Given the description of an element on the screen output the (x, y) to click on. 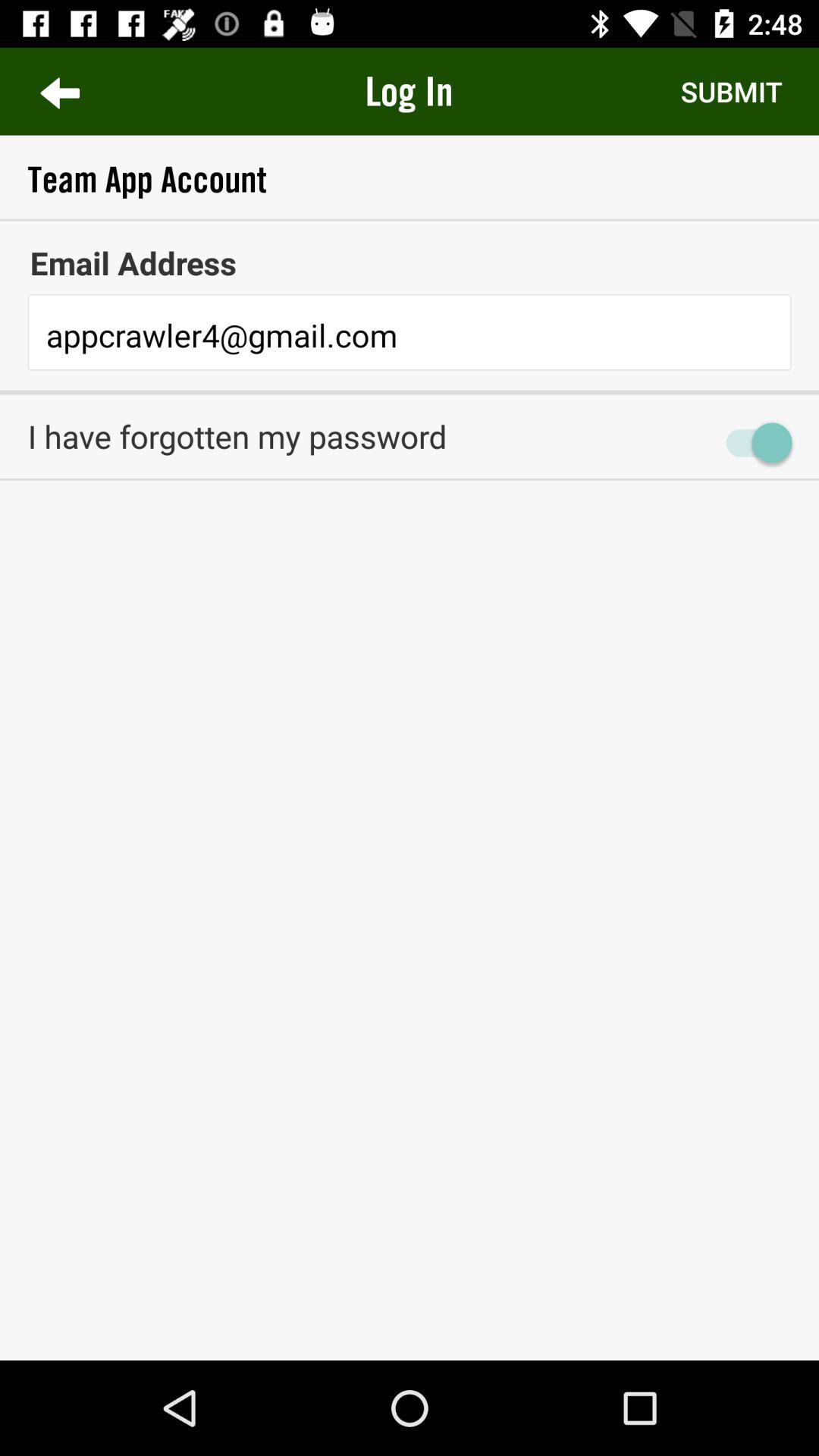
choose the submit icon (731, 91)
